Given the description of an element on the screen output the (x, y) to click on. 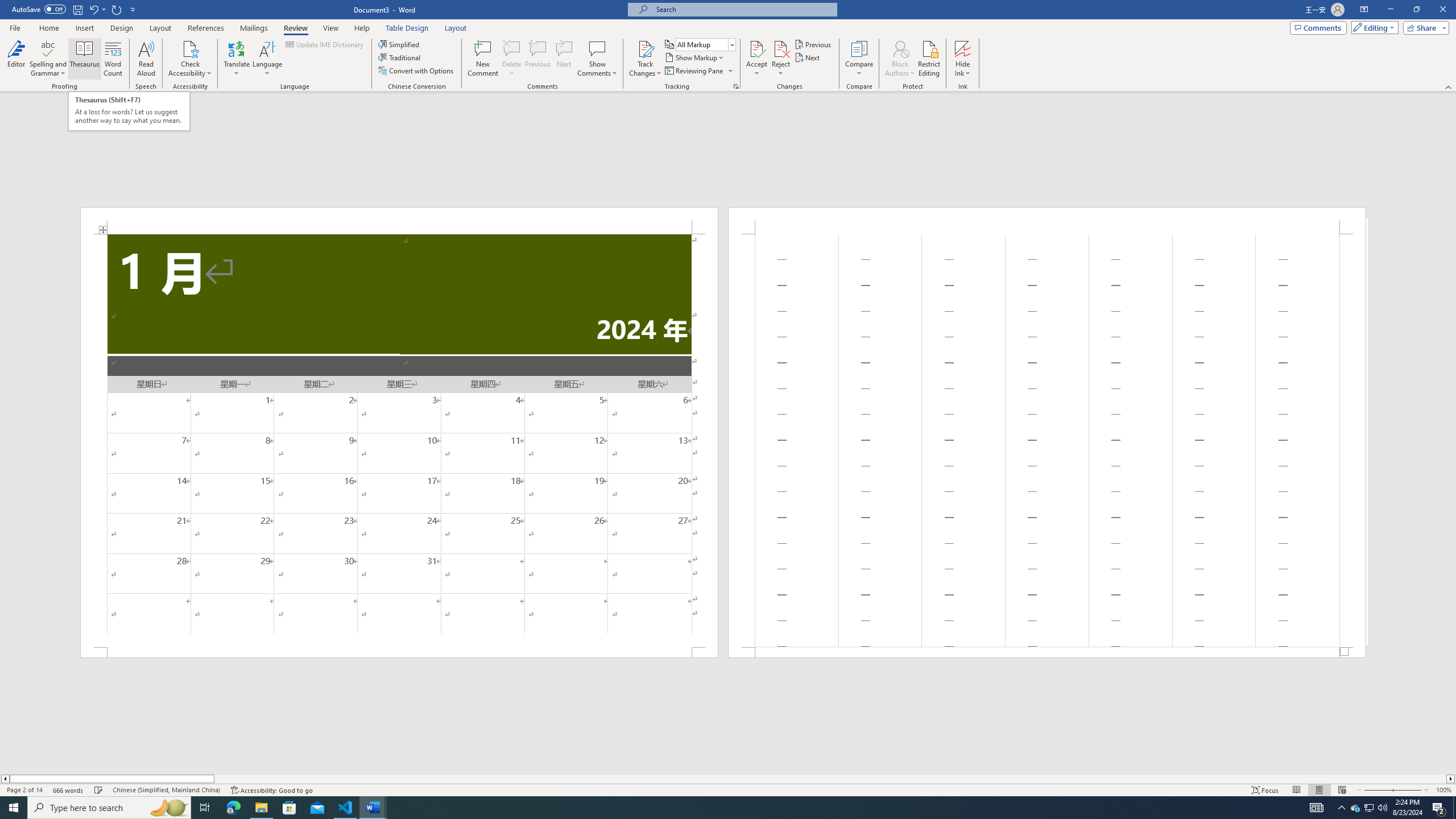
Thesaurus... (84, 58)
Display for Review (705, 44)
Show Markup (695, 56)
Repeat Doc Close (117, 9)
